Given the description of an element on the screen output the (x, y) to click on. 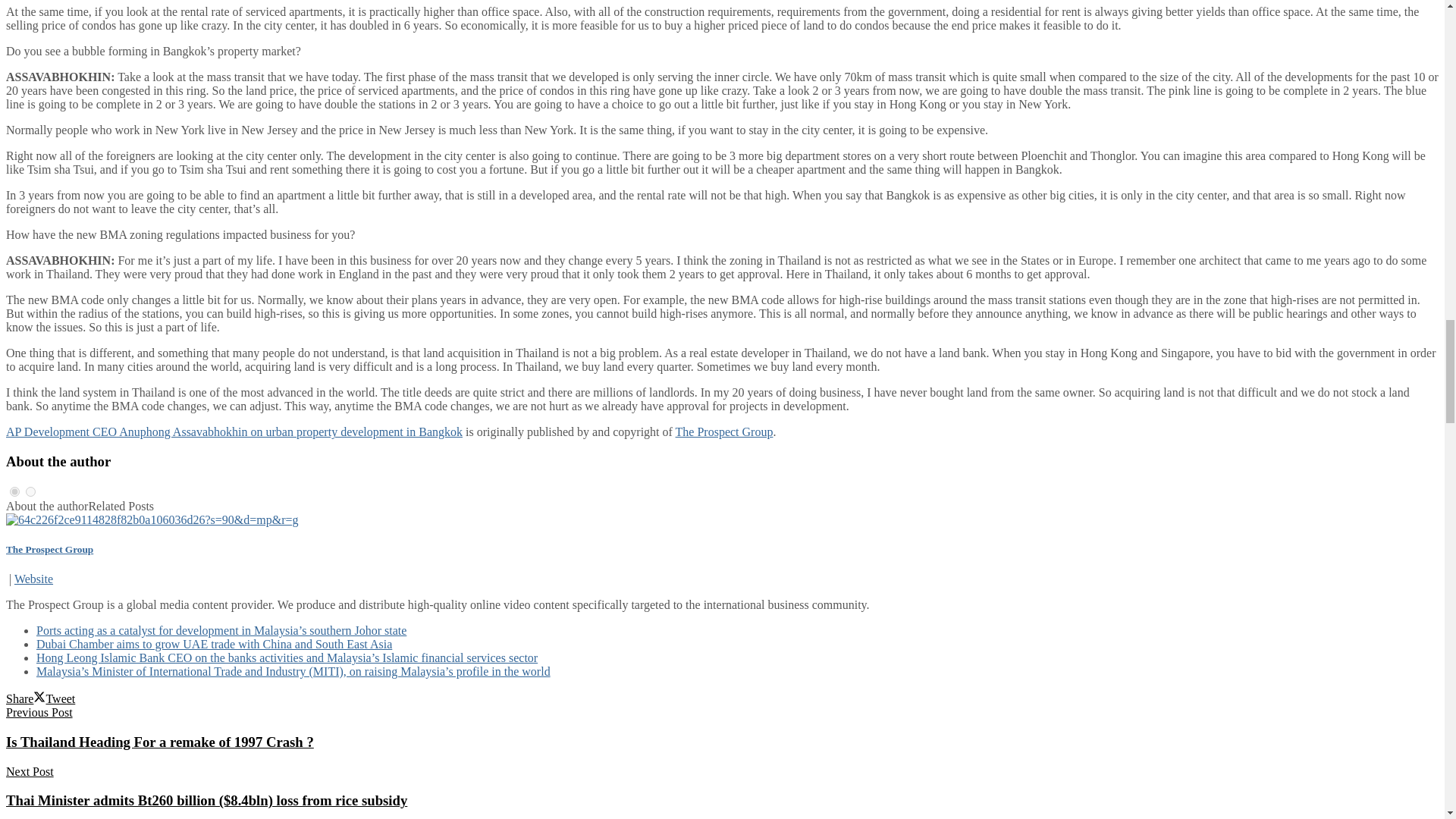
on (15, 491)
on (30, 491)
